Given the description of an element on the screen output the (x, y) to click on. 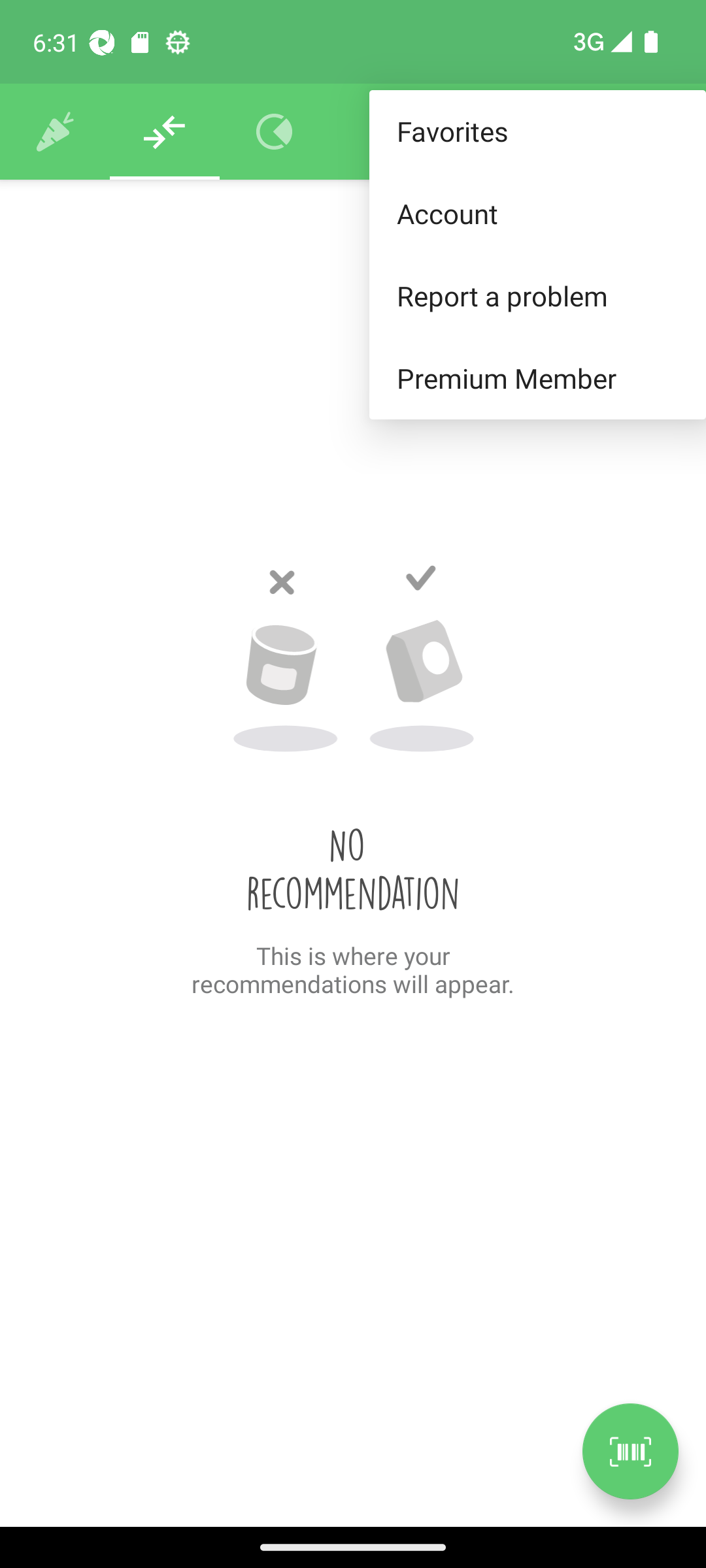
Favorites (537, 131)
Account (537, 213)
Report a problem (537, 295)
Premium Member (537, 378)
